Given the description of an element on the screen output the (x, y) to click on. 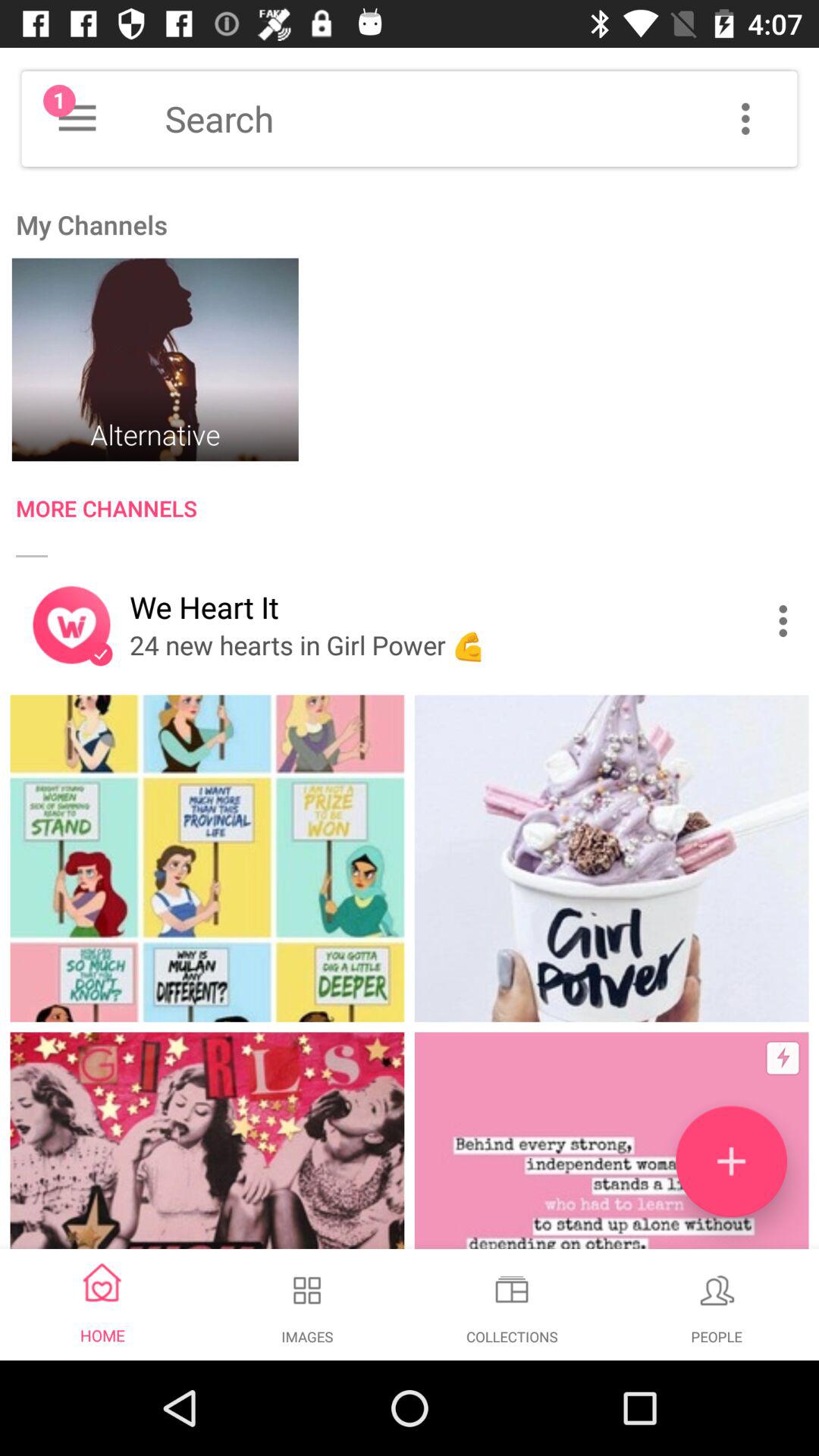
more option (77, 118)
